Given the description of an element on the screen output the (x, y) to click on. 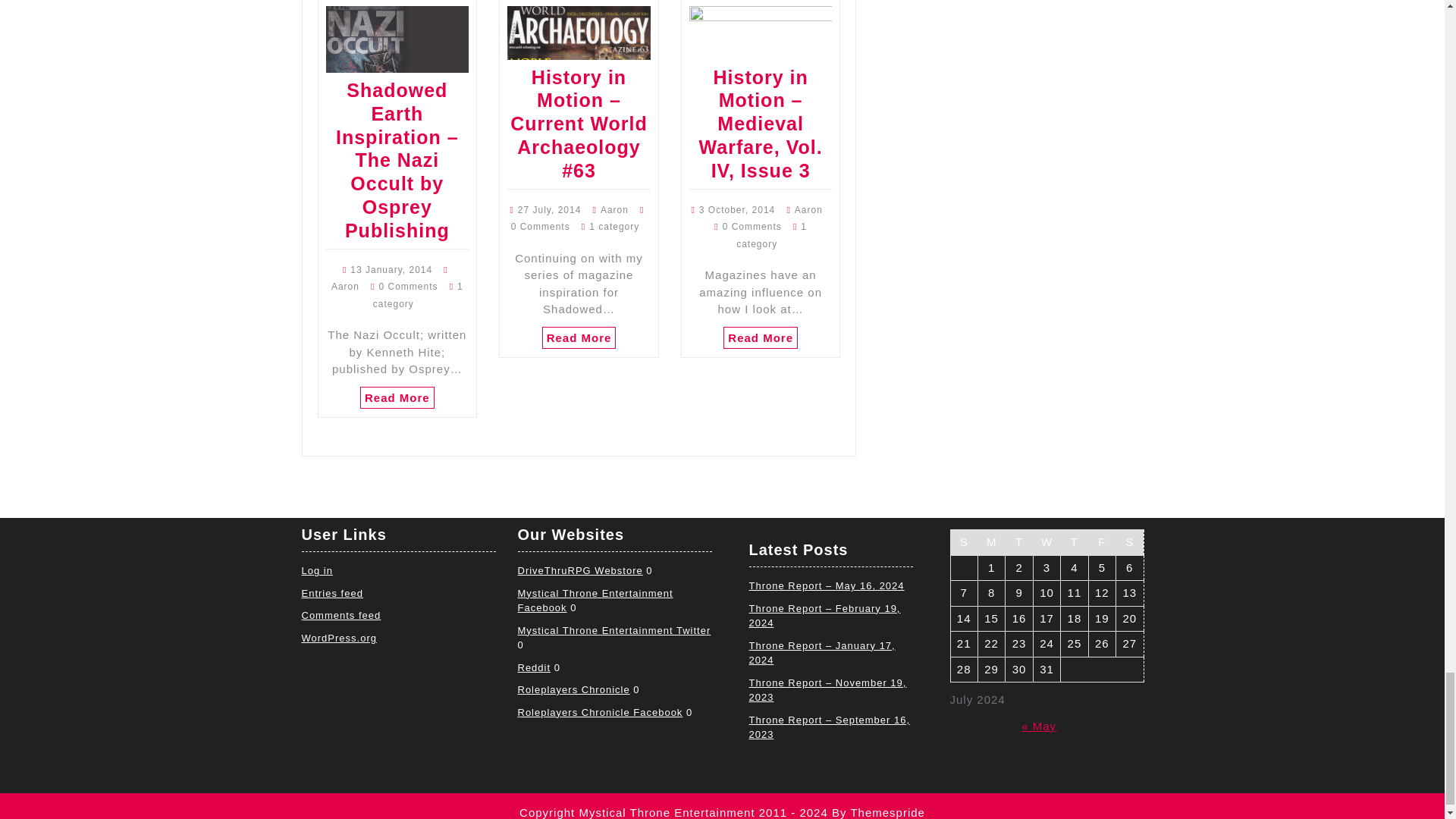
Read More (760, 337)
Read More (396, 397)
Read More (578, 337)
